Given the description of an element on the screen output the (x, y) to click on. 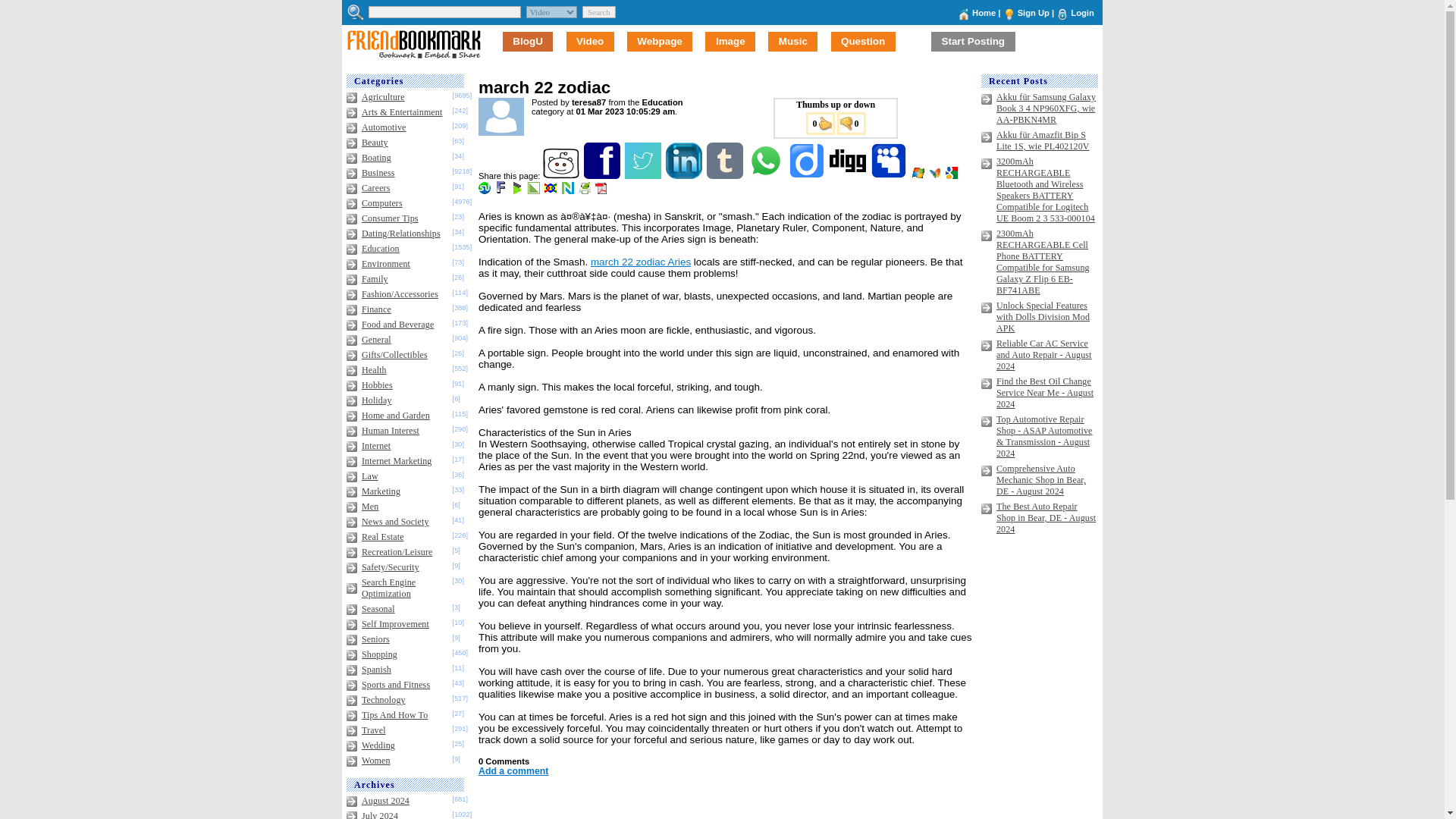
Home (983, 12)
blogmarks (518, 190)
Thumbs Down (851, 123)
StumbleUpon (486, 190)
Search (598, 11)
Google (951, 175)
digg (848, 175)
Login (1081, 12)
Tumblr (725, 175)
LinkedIn (684, 175)
